Given the description of an element on the screen output the (x, y) to click on. 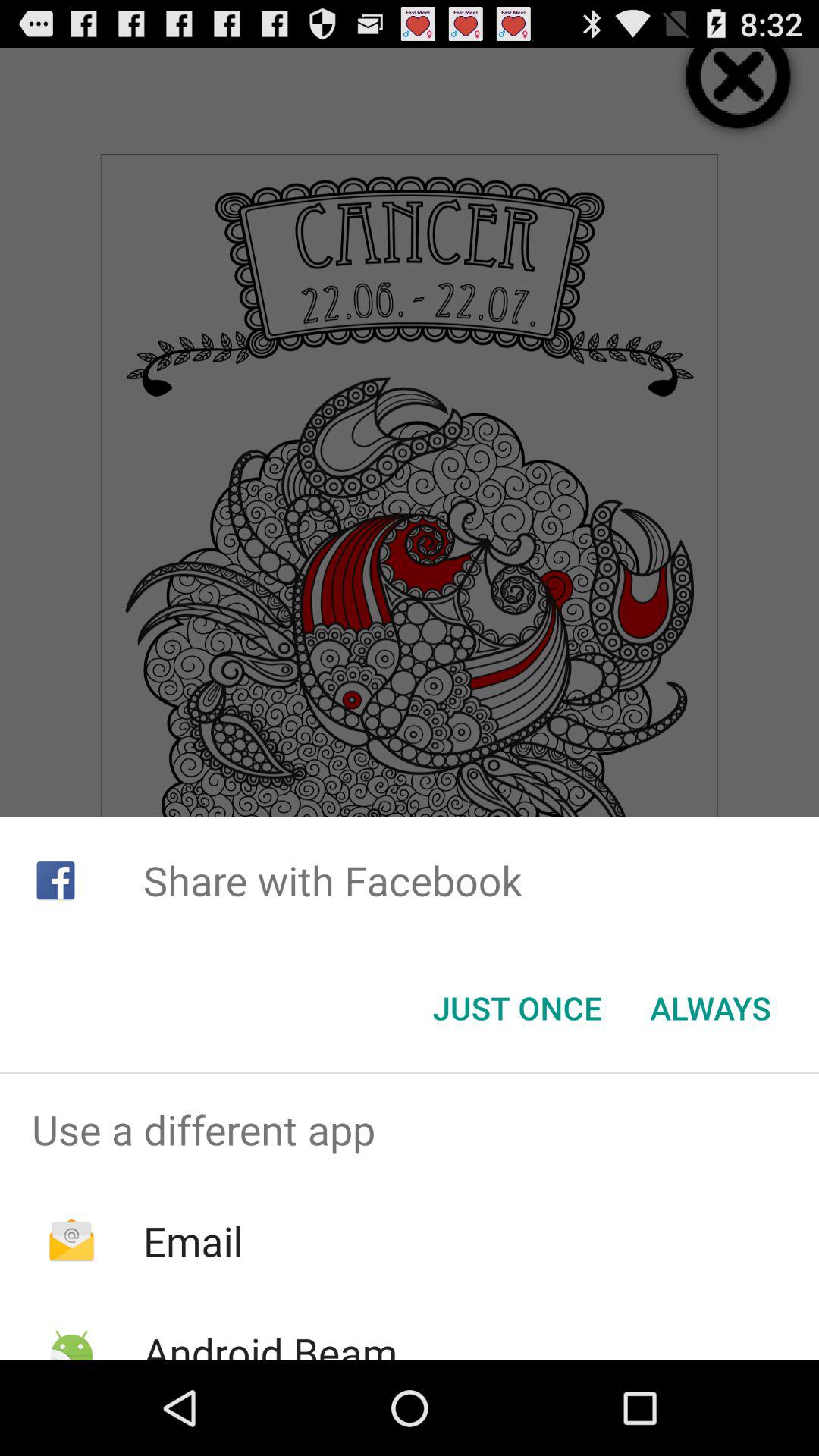
select email item (192, 1240)
